Given the description of an element on the screen output the (x, y) to click on. 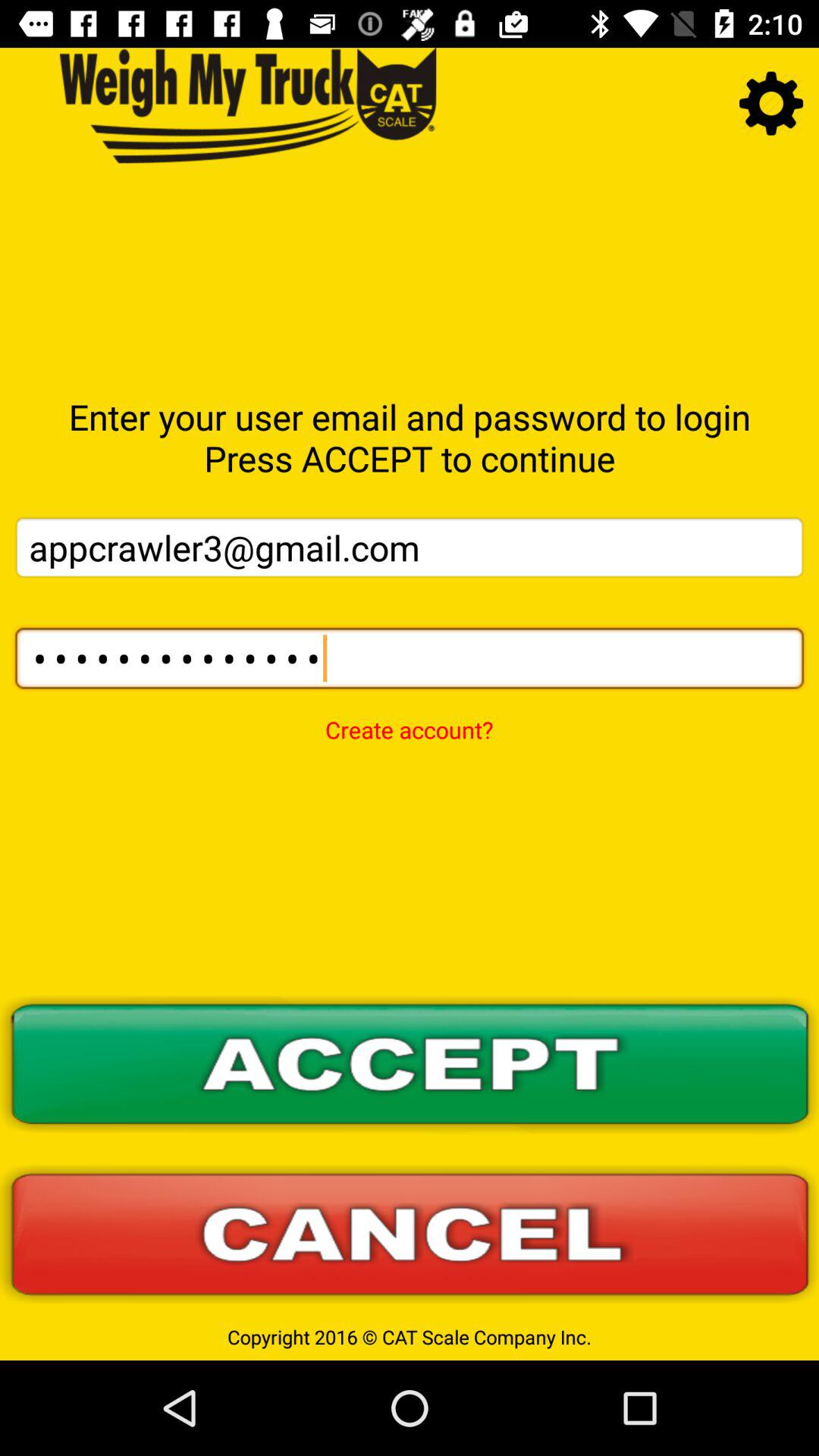
jump to appcrawler3@gmail.com icon (409, 546)
